Given the description of an element on the screen output the (x, y) to click on. 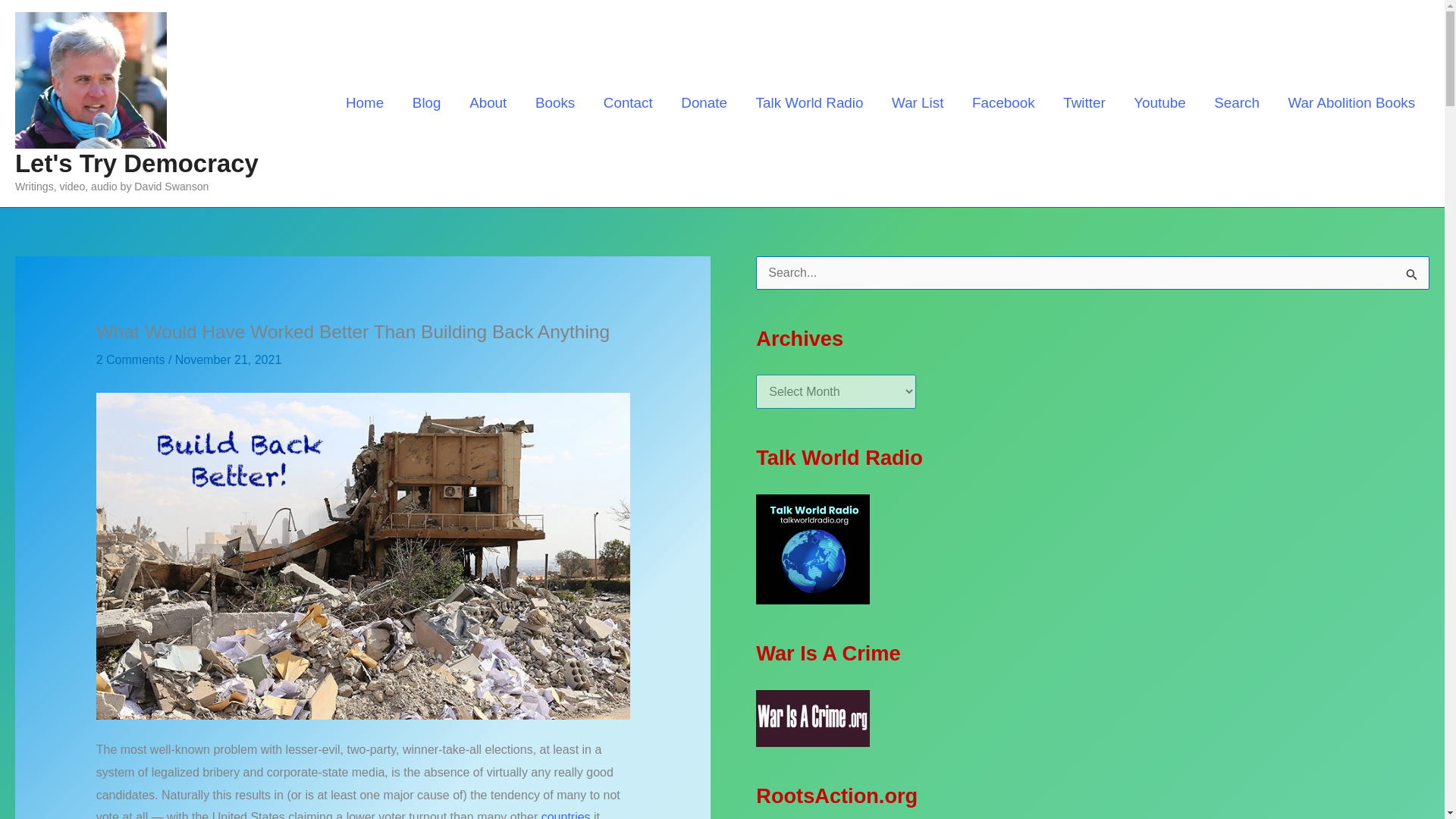
2 Comments (130, 359)
Talk World Radio (809, 102)
Home (364, 102)
Facebook (1003, 102)
War Abolition Books (1351, 102)
Books (555, 102)
Let's Try Democracy (136, 163)
Youtube (1159, 102)
War List (917, 102)
Donate (703, 102)
